Given the description of an element on the screen output the (x, y) to click on. 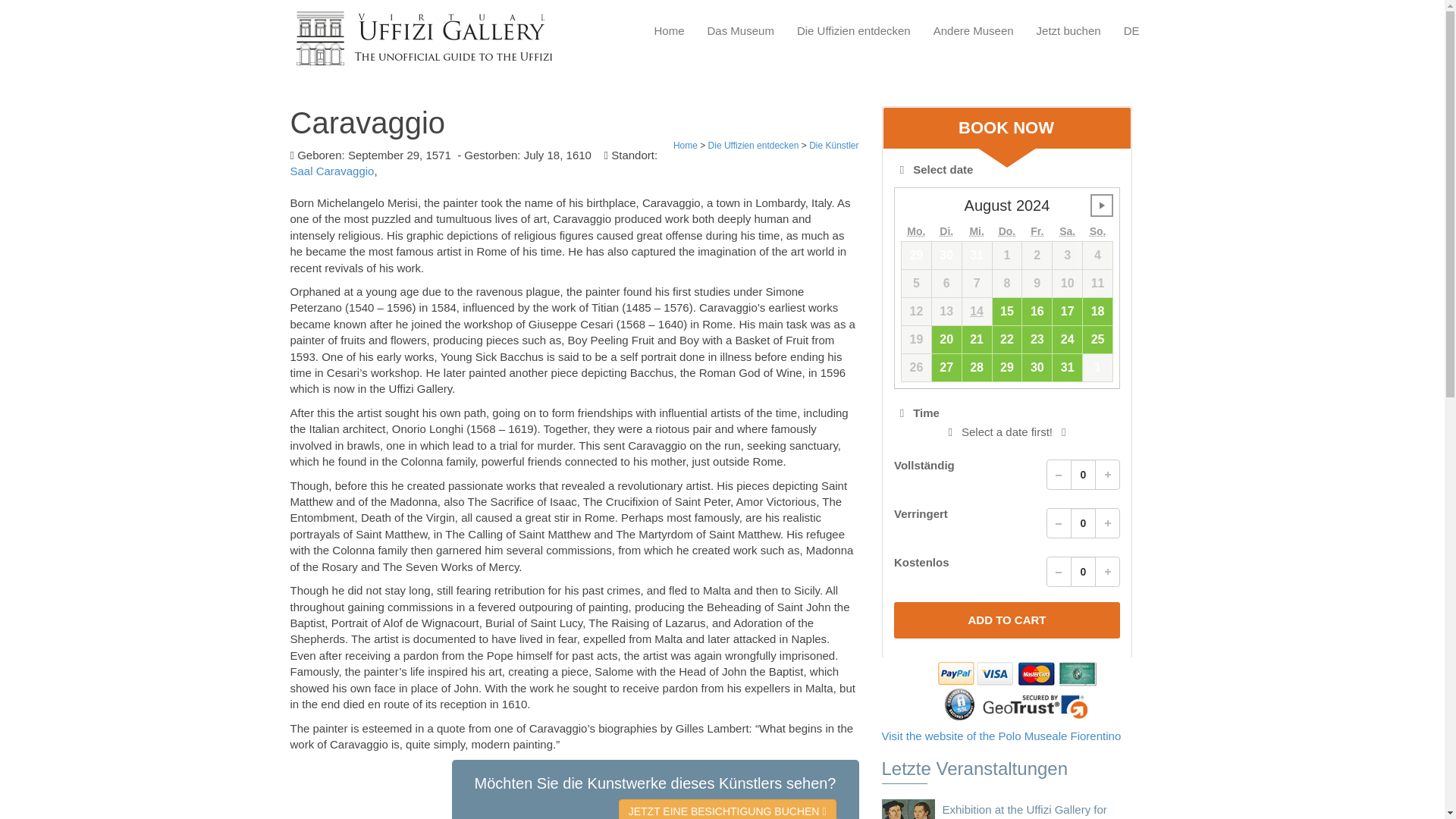
Das Museum (740, 30)
Jetzt buchen (1068, 30)
DE (1131, 30)
Home (668, 30)
Andere Museen (974, 30)
Home (684, 145)
Die Uffizien entdecken (853, 30)
